Given the description of an element on the screen output the (x, y) to click on. 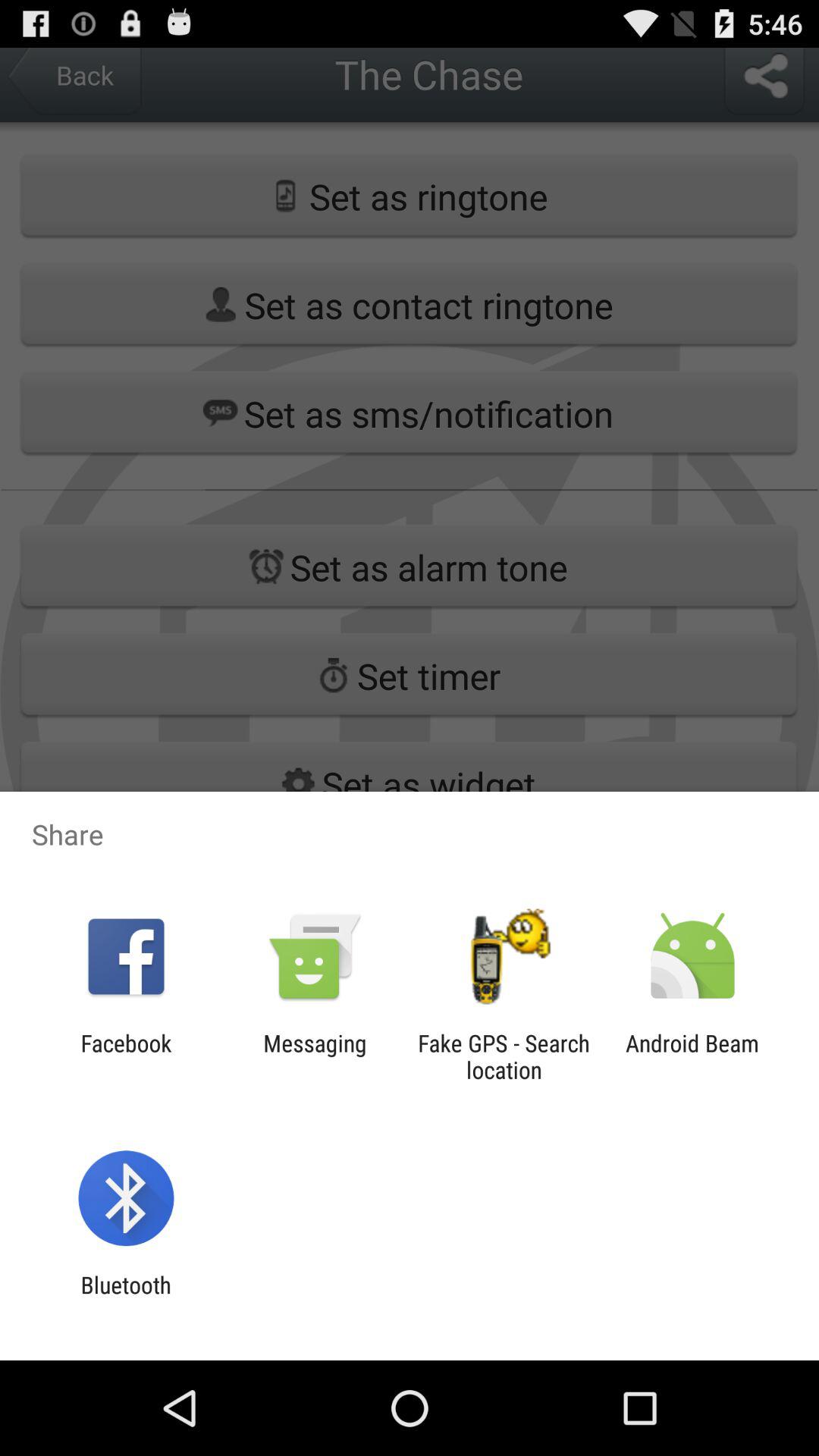
select messaging app (314, 1056)
